Given the description of an element on the screen output the (x, y) to click on. 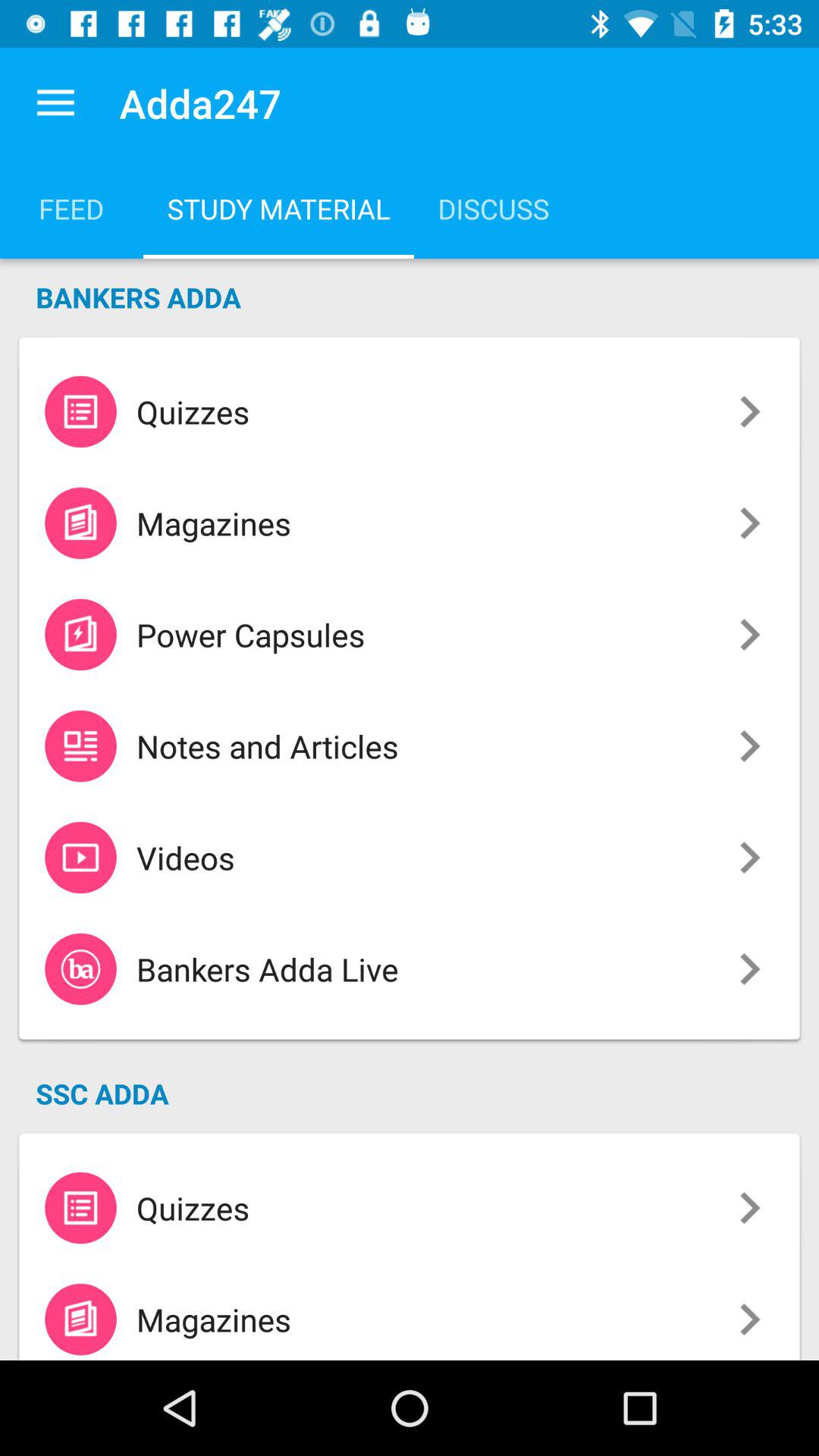
open the item next to the adda247 (55, 103)
